Given the description of an element on the screen output the (x, y) to click on. 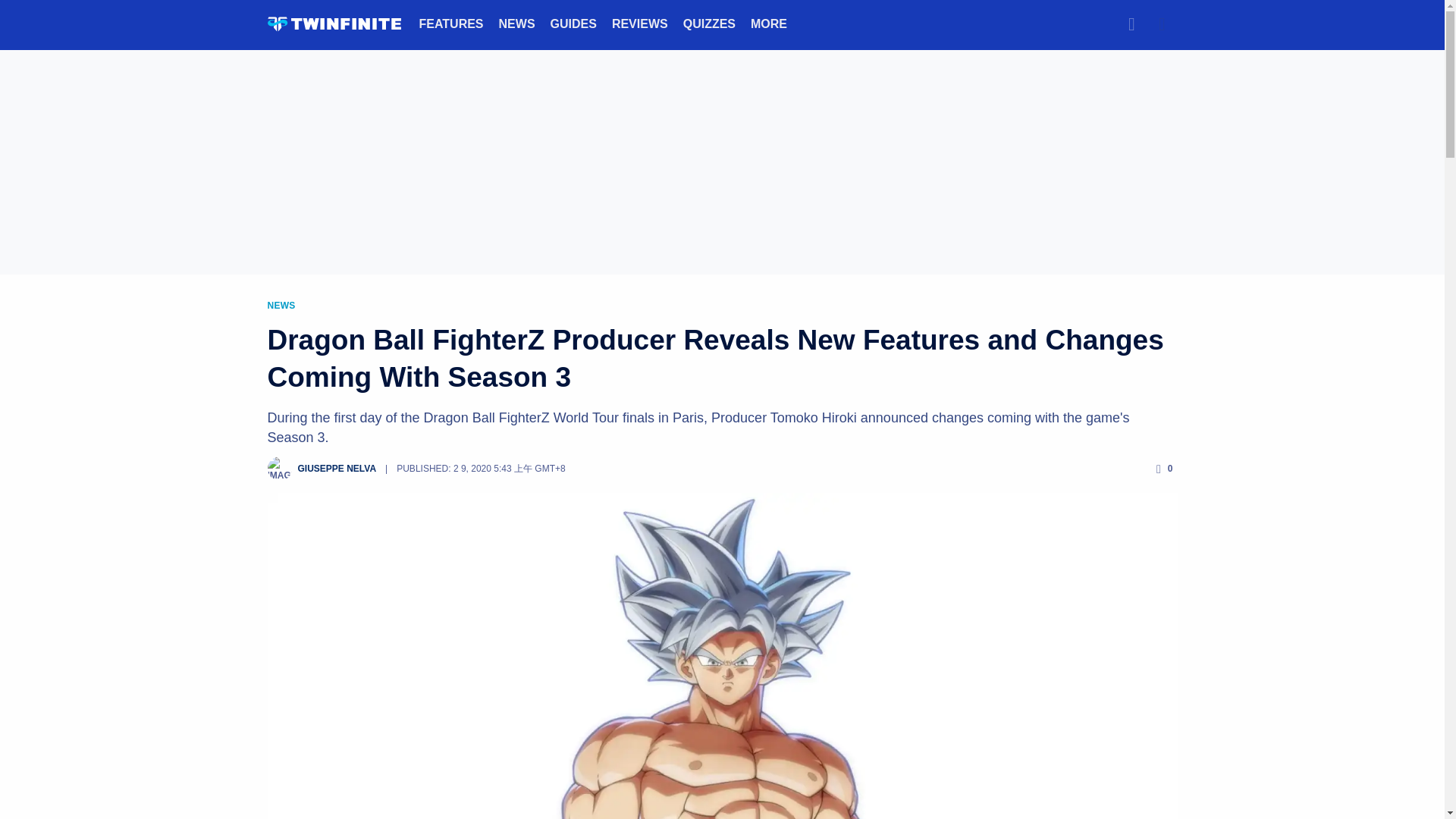
Search (1131, 24)
QUIZZES (708, 23)
NEWS (517, 23)
GUIDES (573, 23)
Dark Mode (1161, 24)
REVIEWS (639, 23)
FEATURES (451, 23)
